Given the description of an element on the screen output the (x, y) to click on. 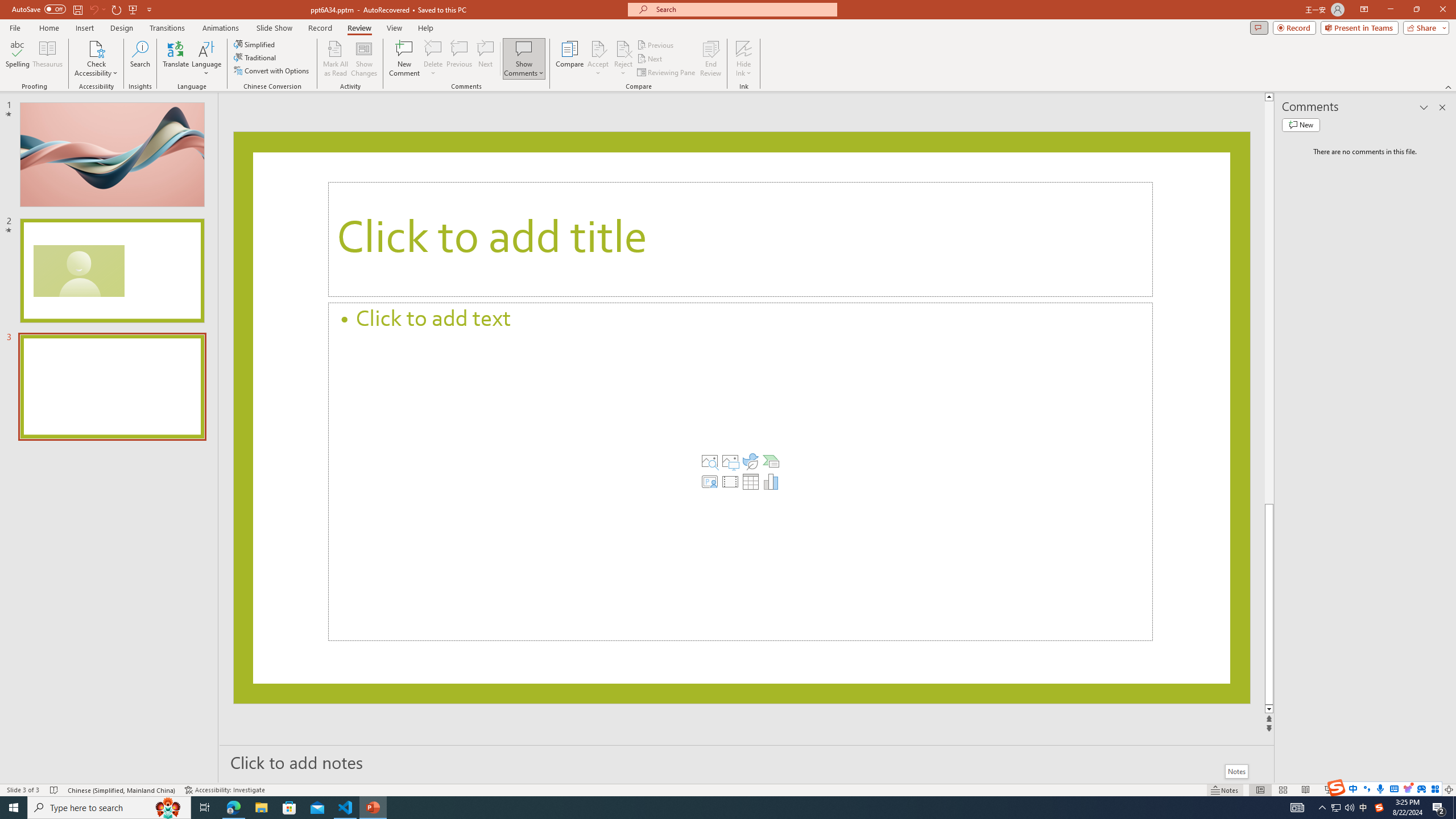
Reviewing Pane (666, 72)
Mark All as Read (335, 58)
Reject Change (622, 48)
Zoom 140% (1430, 790)
